Given the description of an element on the screen output the (x, y) to click on. 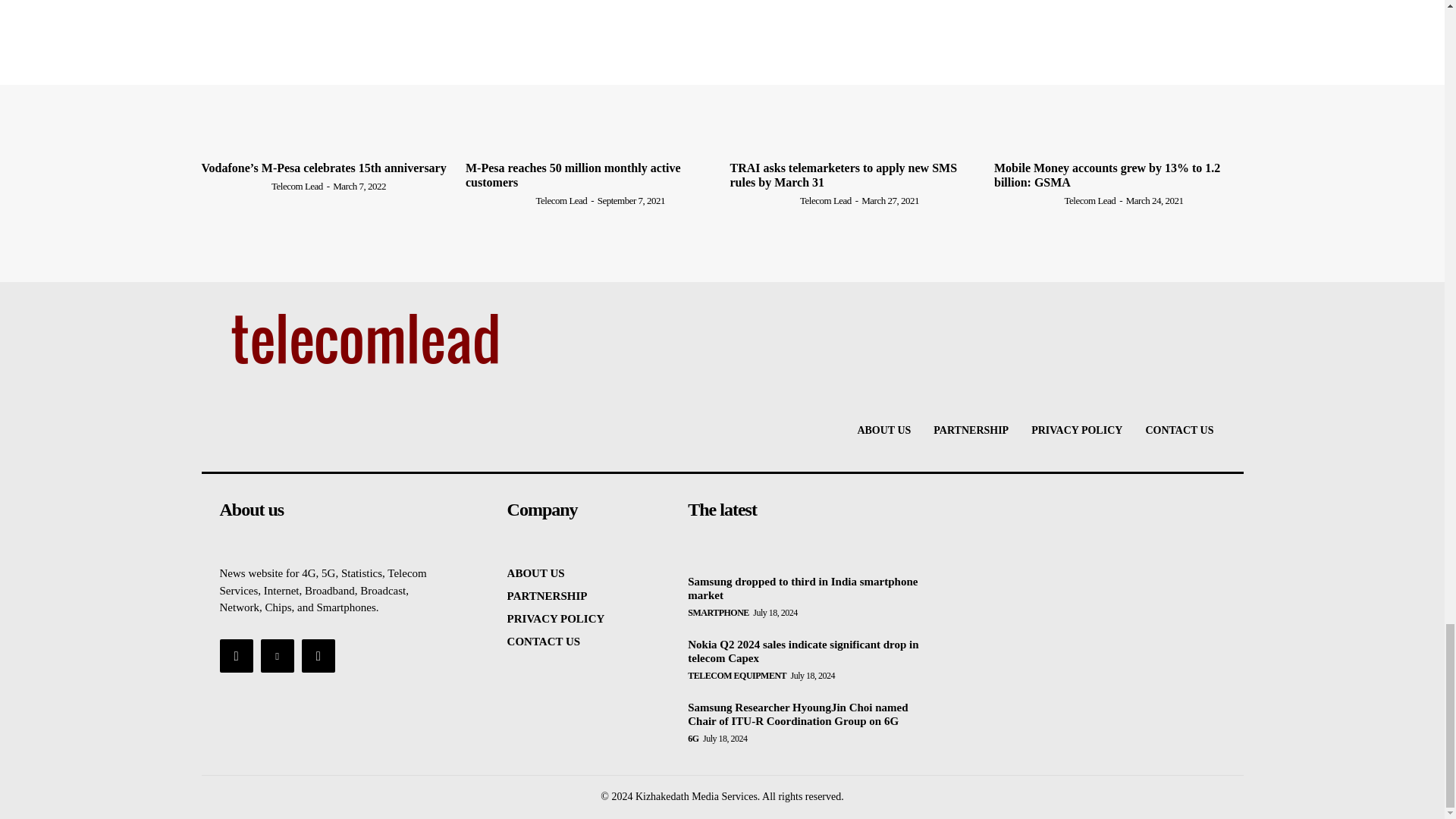
TRAI asks telemarketers to apply new SMS rules by March 31 (853, 88)
M-Pesa reaches 50 million monthly active customers (573, 175)
M-Pesa reaches 50 million monthly active customers (589, 88)
